Given the description of an element on the screen output the (x, y) to click on. 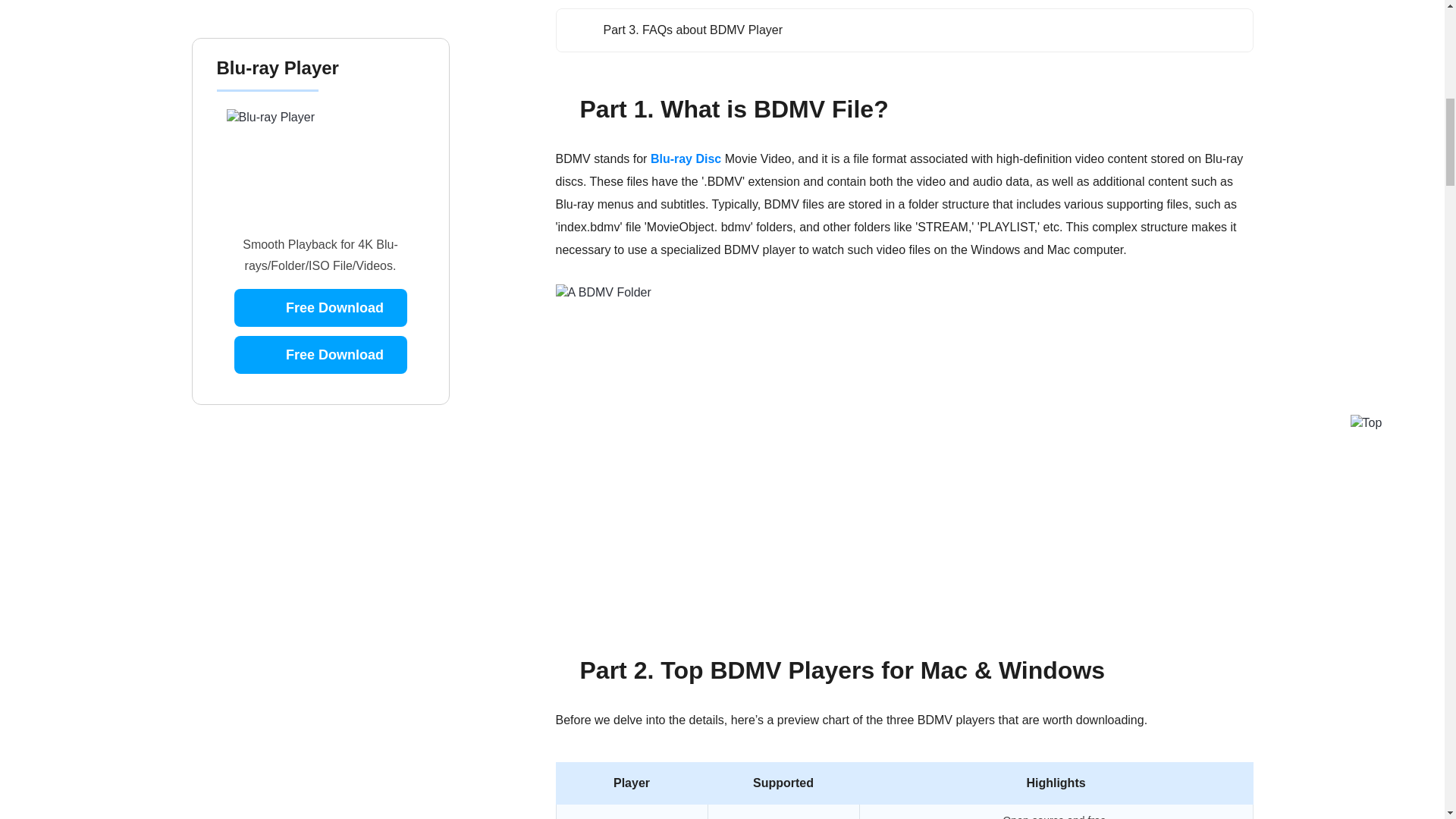
Free Download (319, 132)
Part 3. FAQs about BDMV Player (676, 29)
Free Download (319, 179)
Blu-ray Disc (685, 158)
